Given the description of an element on the screen output the (x, y) to click on. 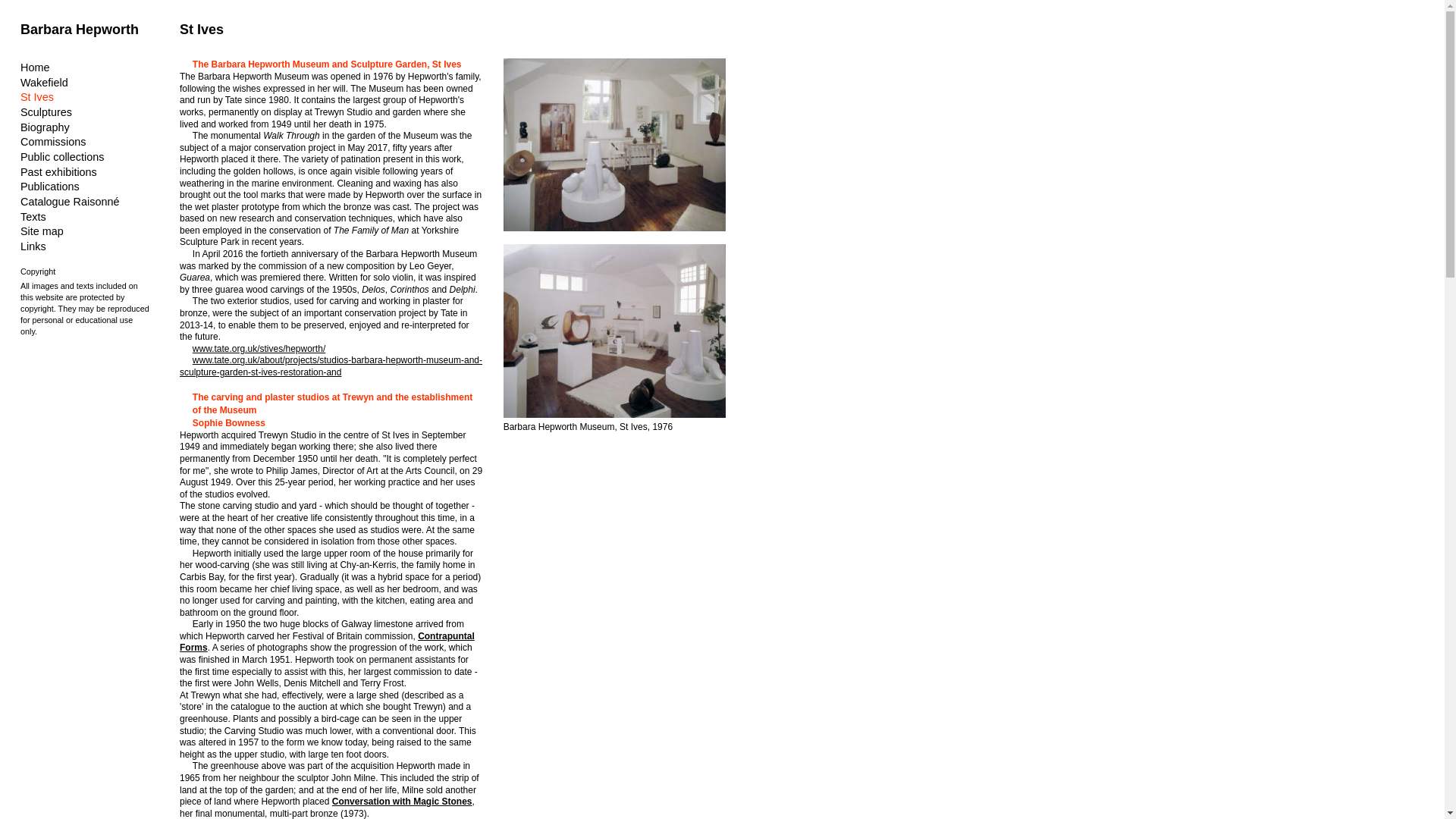
Contrapuntal Forms (326, 641)
The Barbara Hepworth Museum and Sculpture Garden, St Ives (36, 96)
Selected texts by and about Barbara Hepworth (33, 216)
Sculptures in public collections (61, 156)
An overview of the site (42, 231)
Links (33, 246)
The complete catalogue of Hepworth's sculpture (69, 201)
Selected past exhibitions (58, 172)
Wakefield (44, 82)
Home (34, 67)
